Given the description of an element on the screen output the (x, y) to click on. 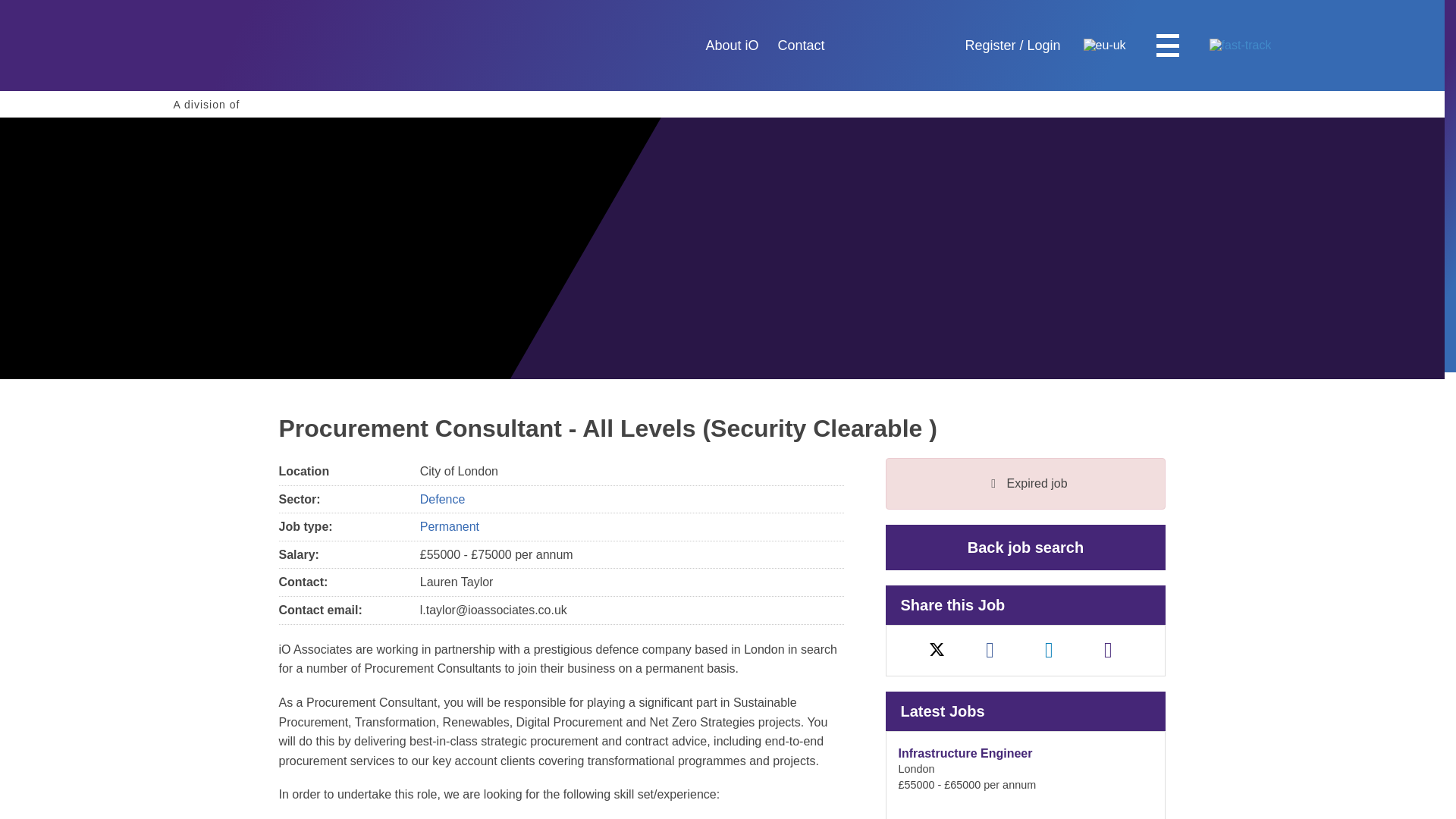
IO Associates (233, 45)
About iO (731, 45)
Permanent (449, 526)
LinkedIn (1048, 650)
Email (1108, 650)
Register (237, 103)
Login (988, 45)
Go to the Homepage (1044, 45)
Facebook (233, 45)
